Given the description of an element on the screen output the (x, y) to click on. 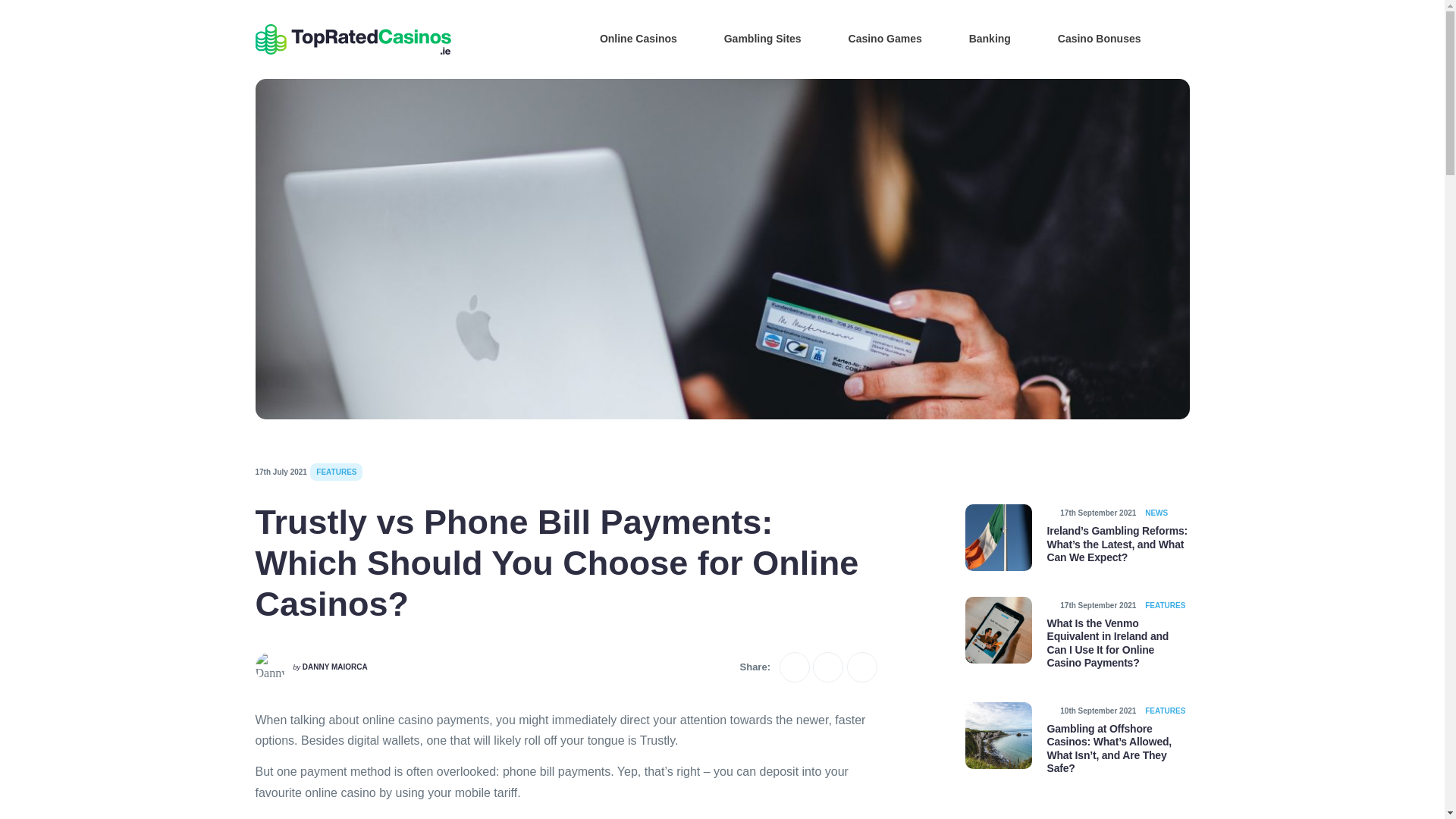
Casino Games (874, 38)
Gambling Sites (752, 38)
Banking (978, 38)
Online Casinos (627, 38)
Gambling Sites (752, 38)
Casino Games (874, 38)
FEATURES (335, 471)
Online Casinos (627, 38)
Banking (978, 38)
Casino Bonuses (1088, 38)
